Given the description of an element on the screen output the (x, y) to click on. 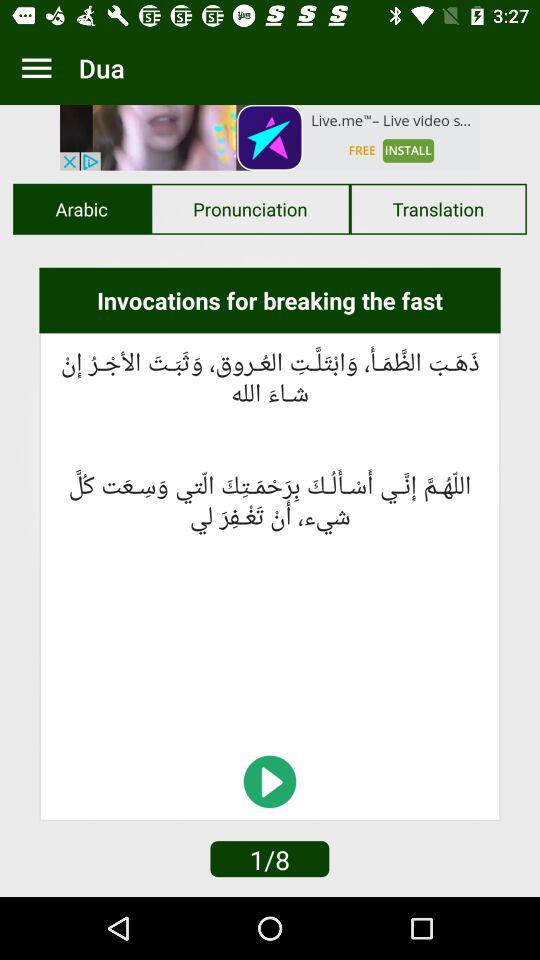
settings (36, 68)
